Given the description of an element on the screen output the (x, y) to click on. 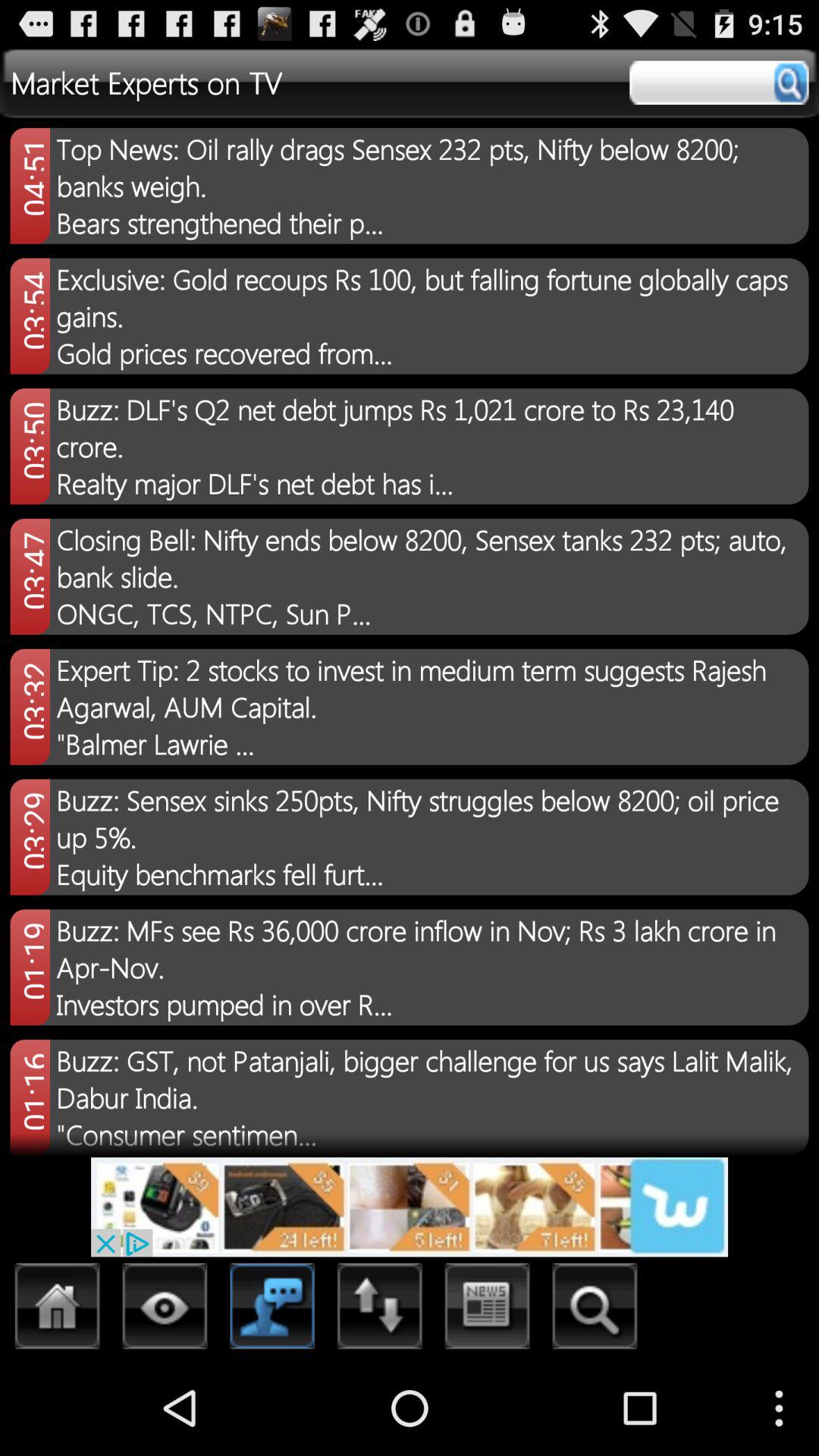
open news (487, 1310)
